Given the description of an element on the screen output the (x, y) to click on. 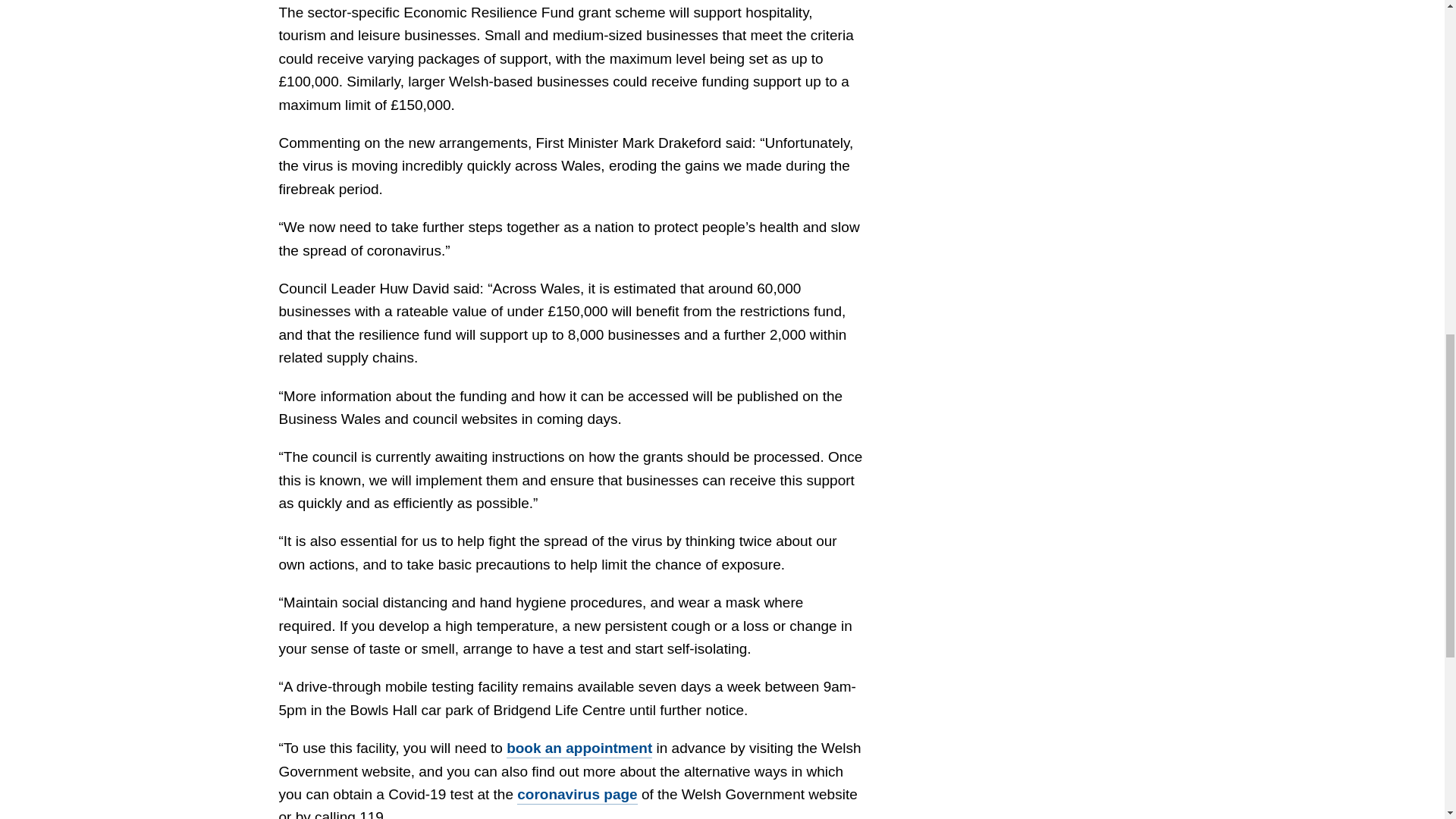
coronavirus page of the Welsh Government website (576, 795)
book an appointment (579, 749)
coronavirus page (576, 795)
